Given the description of an element on the screen output the (x, y) to click on. 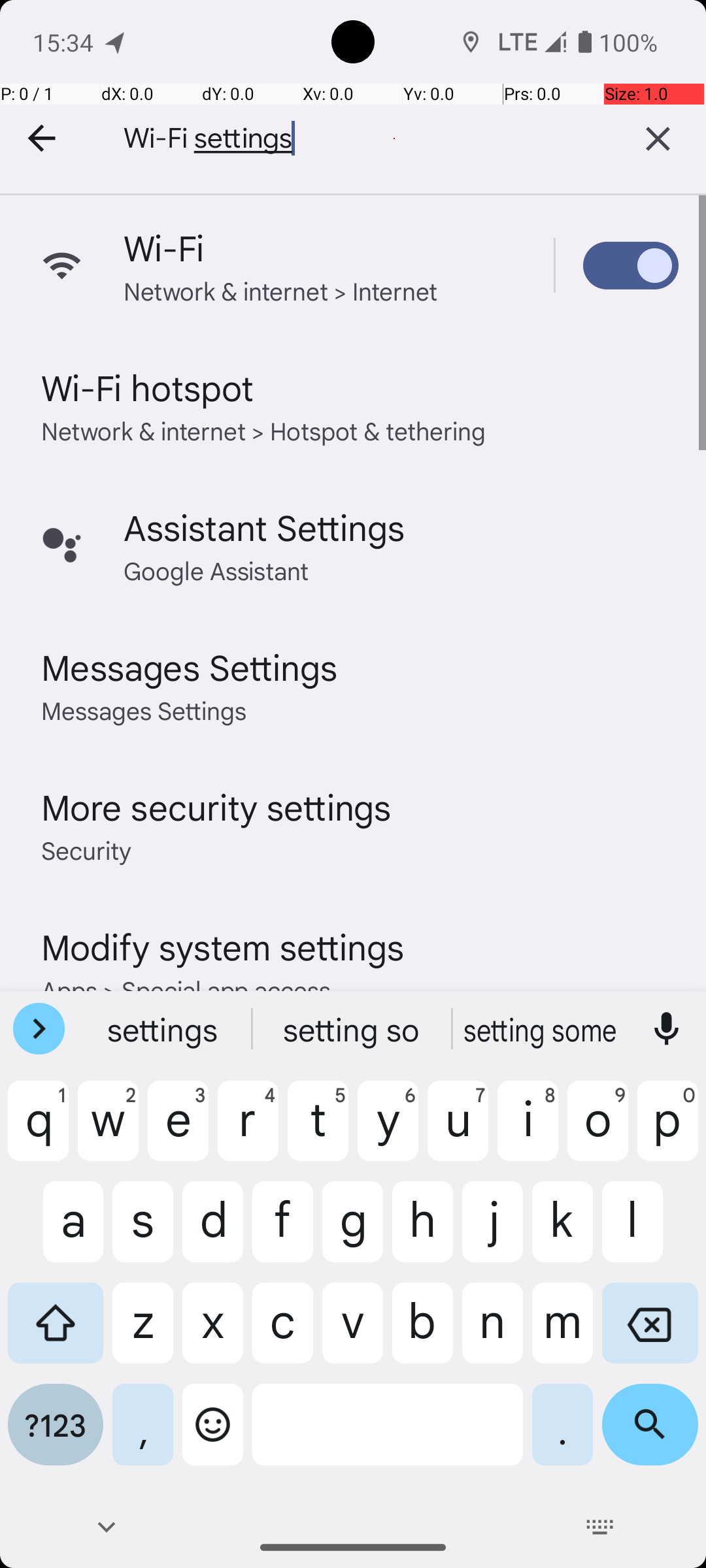
Wi-Fi settings Element type: android.widget.EditText (345, 138)
Clear text Element type: android.widget.ImageButton (657, 138)
Wi-Fi Element type: android.widget.TextView (163, 246)
Network & internet > Internet Element type: android.widget.TextView (280, 289)
Wi-Fi hotspot Element type: android.widget.TextView (147, 386)
Network & internet > Hotspot & tethering Element type: android.widget.TextView (263, 429)
Assistant Settings Element type: android.widget.TextView (263, 526)
Google Assistant Element type: android.widget.TextView (215, 569)
Messages Settings Element type: android.widget.TextView (189, 666)
More security settings Element type: android.widget.TextView (216, 806)
Security Element type: android.widget.TextView (86, 848)
Modify system settings Element type: android.widget.TextView (222, 945)
Apps > Special app access Element type: android.widget.TextView (185, 988)
settings Element type: android.widget.FrameLayout (163, 1028)
setting so Element type: android.widget.FrameLayout (352, 1028)
setting some Element type: android.widget.FrameLayout (541, 1028)
